Given the description of an element on the screen output the (x, y) to click on. 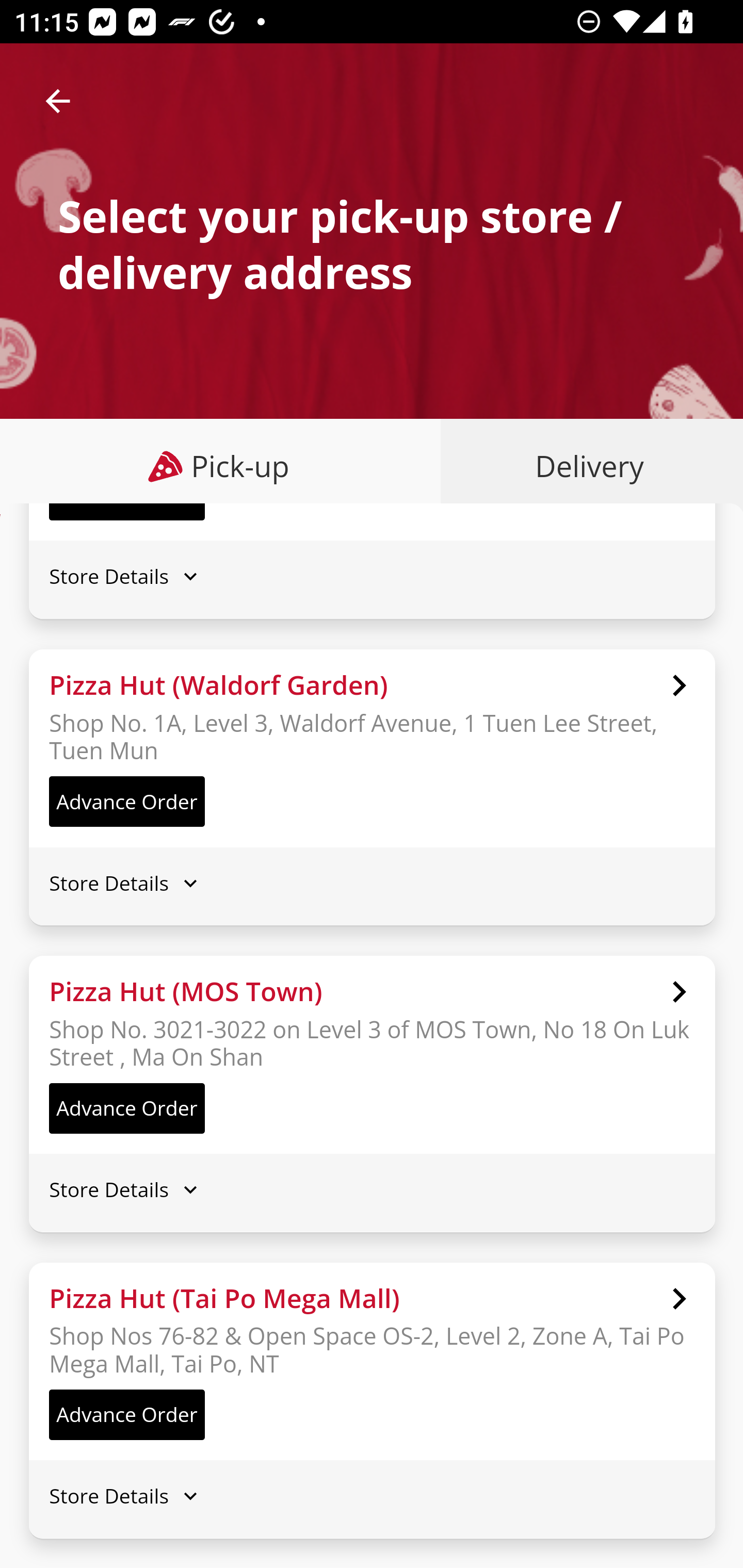
arrow_back (58, 100)
Pick-up (221, 466)
Delivery (585, 466)
Store Details (371, 575)
Store Details (371, 883)
Store Details (371, 1189)
Store Details (371, 1495)
